Given the description of an element on the screen output the (x, y) to click on. 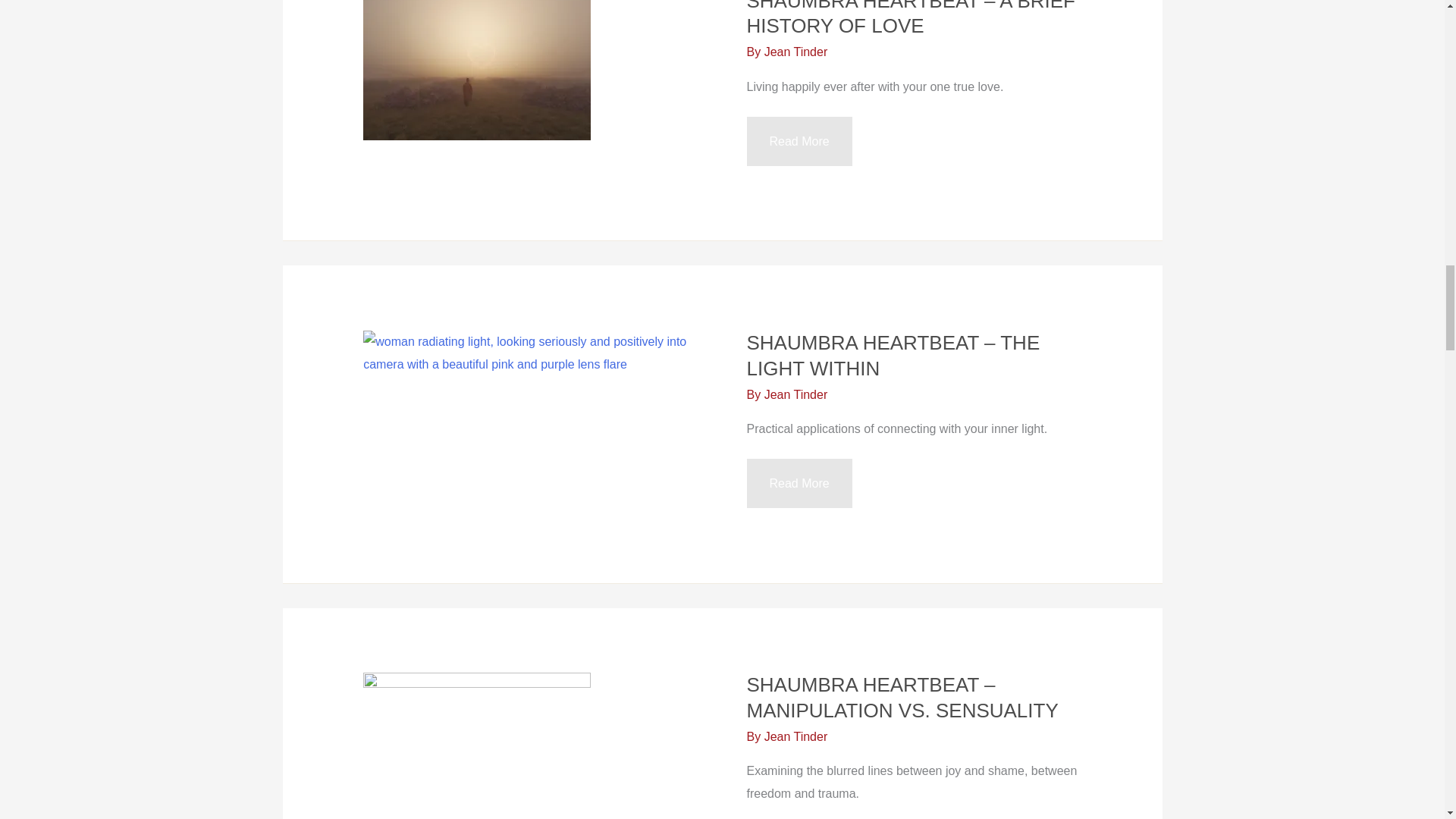
View all posts by Jean Tinder (796, 394)
View all posts by Jean Tinder (796, 51)
View all posts by Jean Tinder (796, 736)
